Given the description of an element on the screen output the (x, y) to click on. 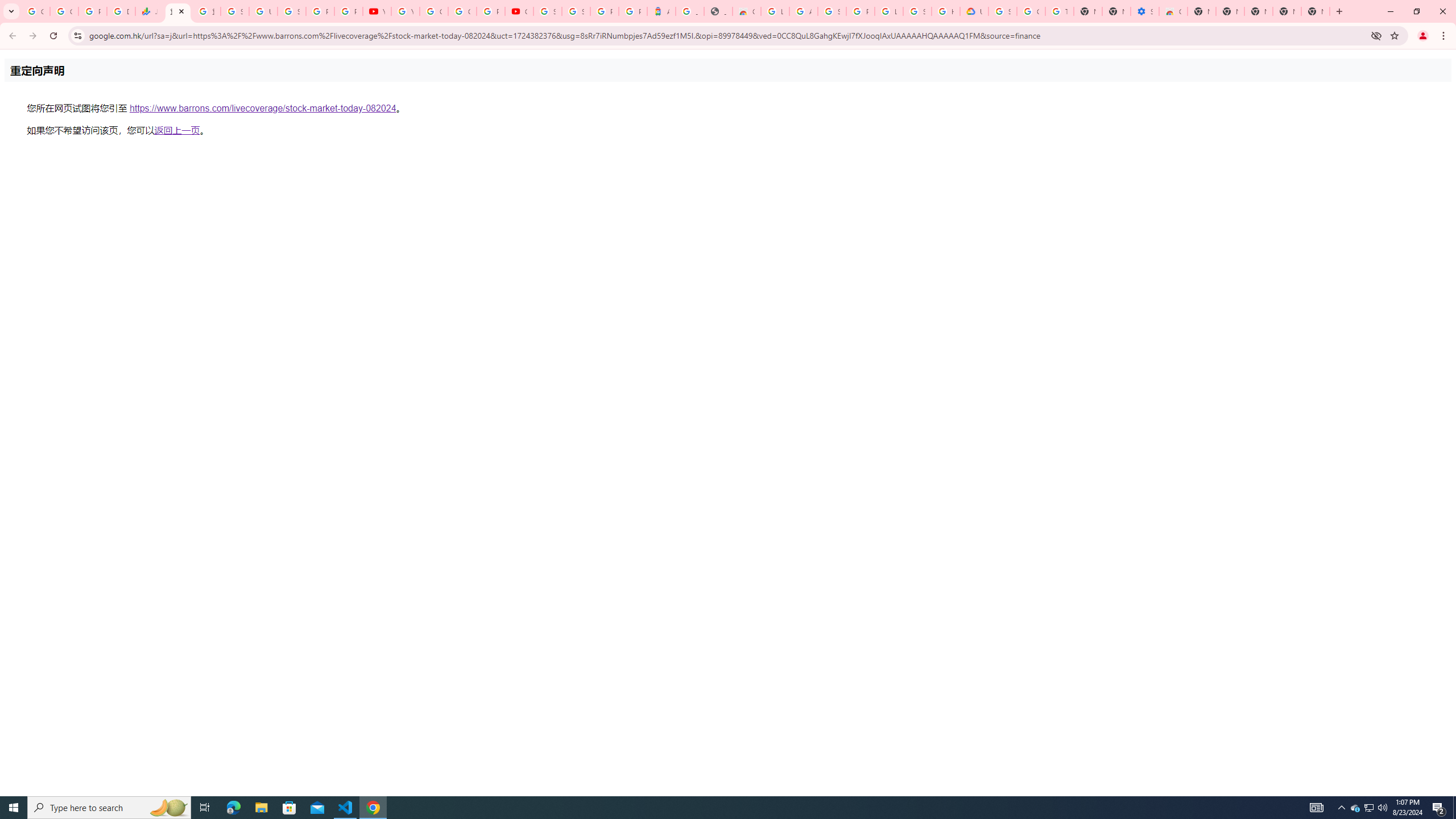
Sign in - Google Accounts (234, 11)
Ad Settings (803, 11)
Privacy Checkup (348, 11)
Chrome Web Store - Household (746, 11)
